Given the description of an element on the screen output the (x, y) to click on. 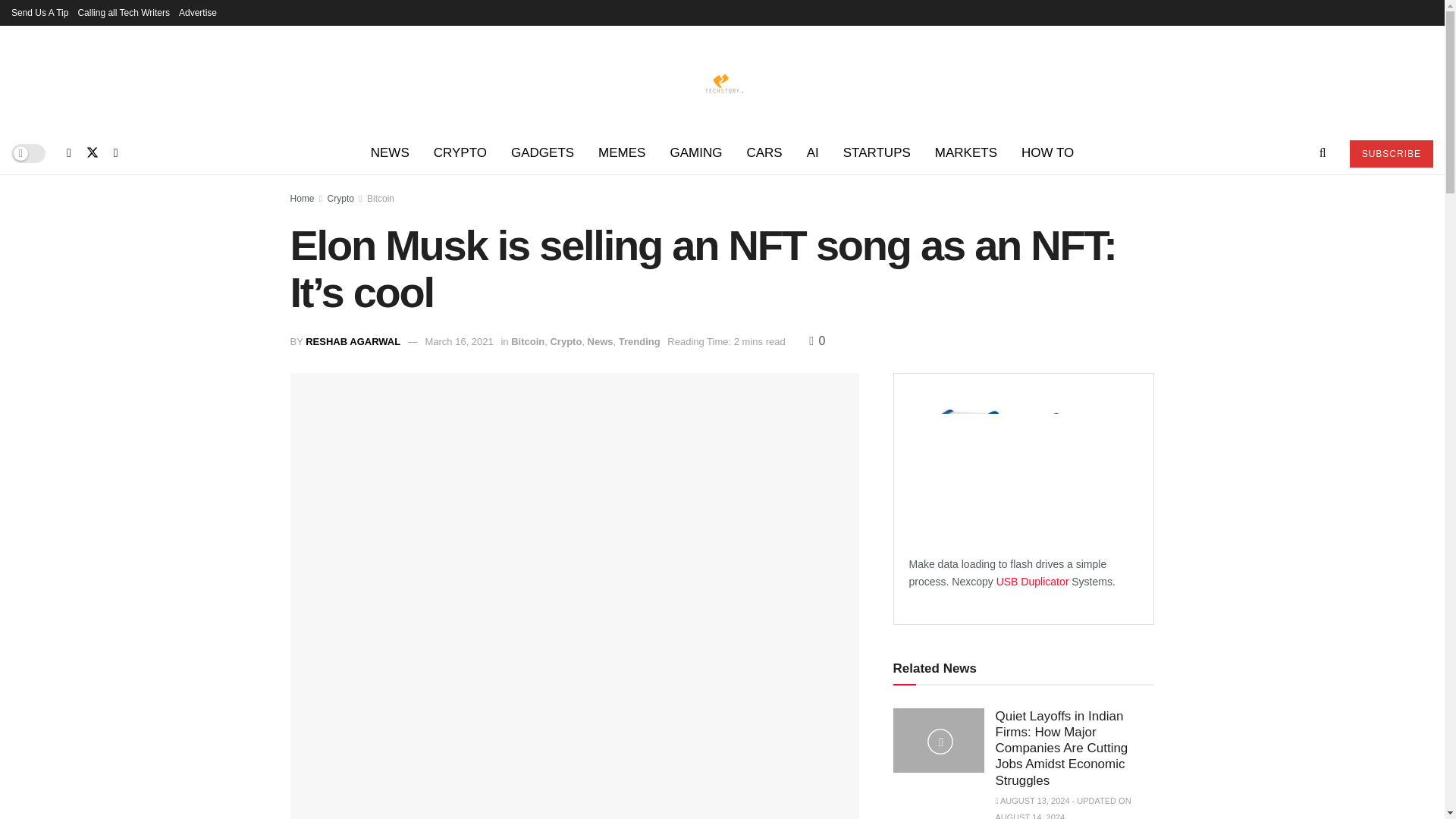
GADGETS (542, 152)
Home (301, 198)
CARS (763, 152)
CRYPTO (460, 152)
SUBSCRIBE (1390, 153)
NEWS (390, 152)
Send Us A Tip (39, 12)
Calling all Tech Writers (123, 12)
USB duplicator (1033, 581)
HOW TO (1047, 152)
